Given the description of an element on the screen output the (x, y) to click on. 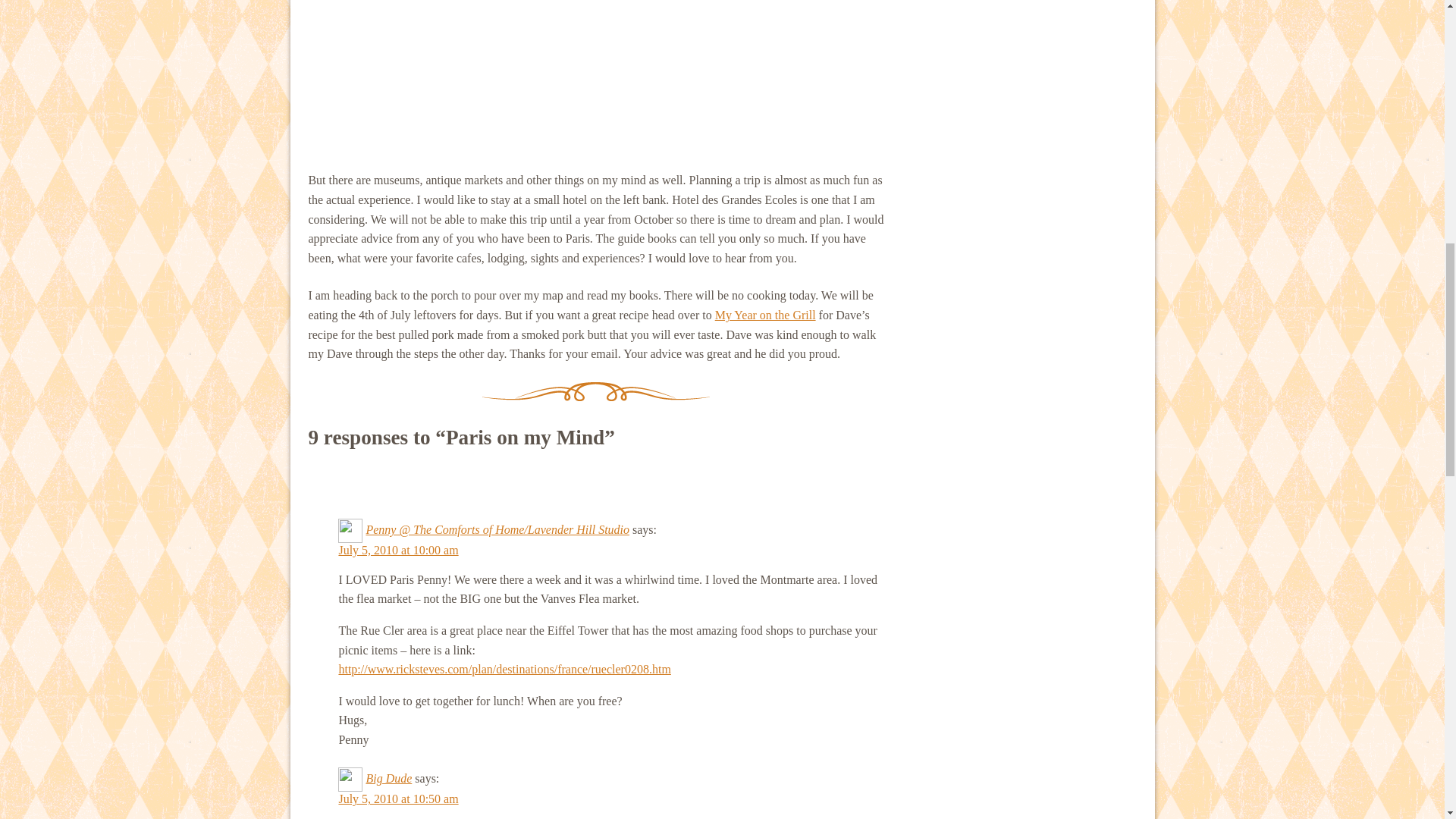
July 5, 2010 at 10:50 am (397, 798)
Advertisement (595, 76)
July 5, 2010 at 10:00 am (397, 549)
Big Dude (388, 778)
My Year on the Grill (764, 314)
